Given the description of an element on the screen output the (x, y) to click on. 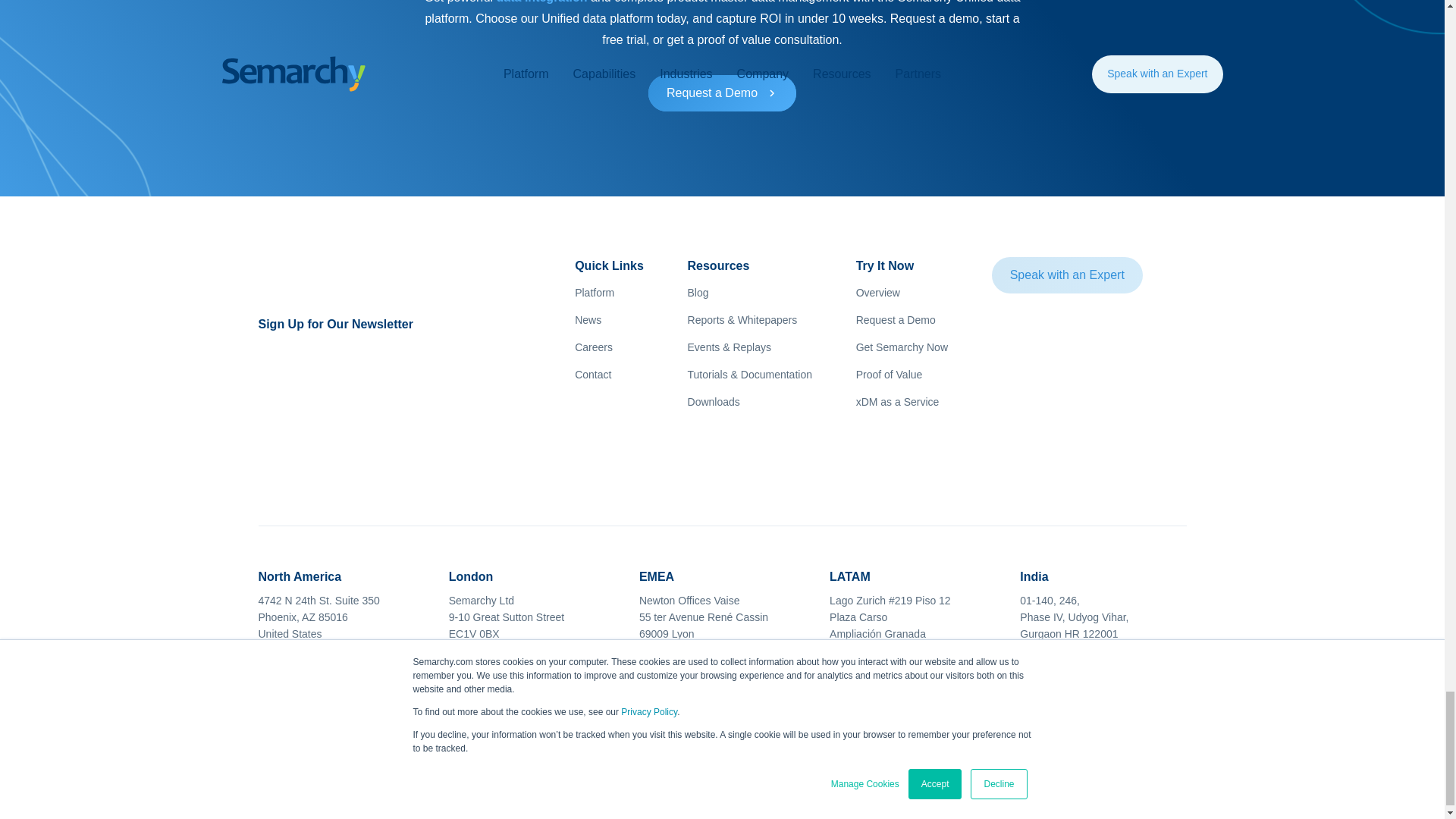
Form 0 (385, 401)
